Given the description of an element on the screen output the (x, y) to click on. 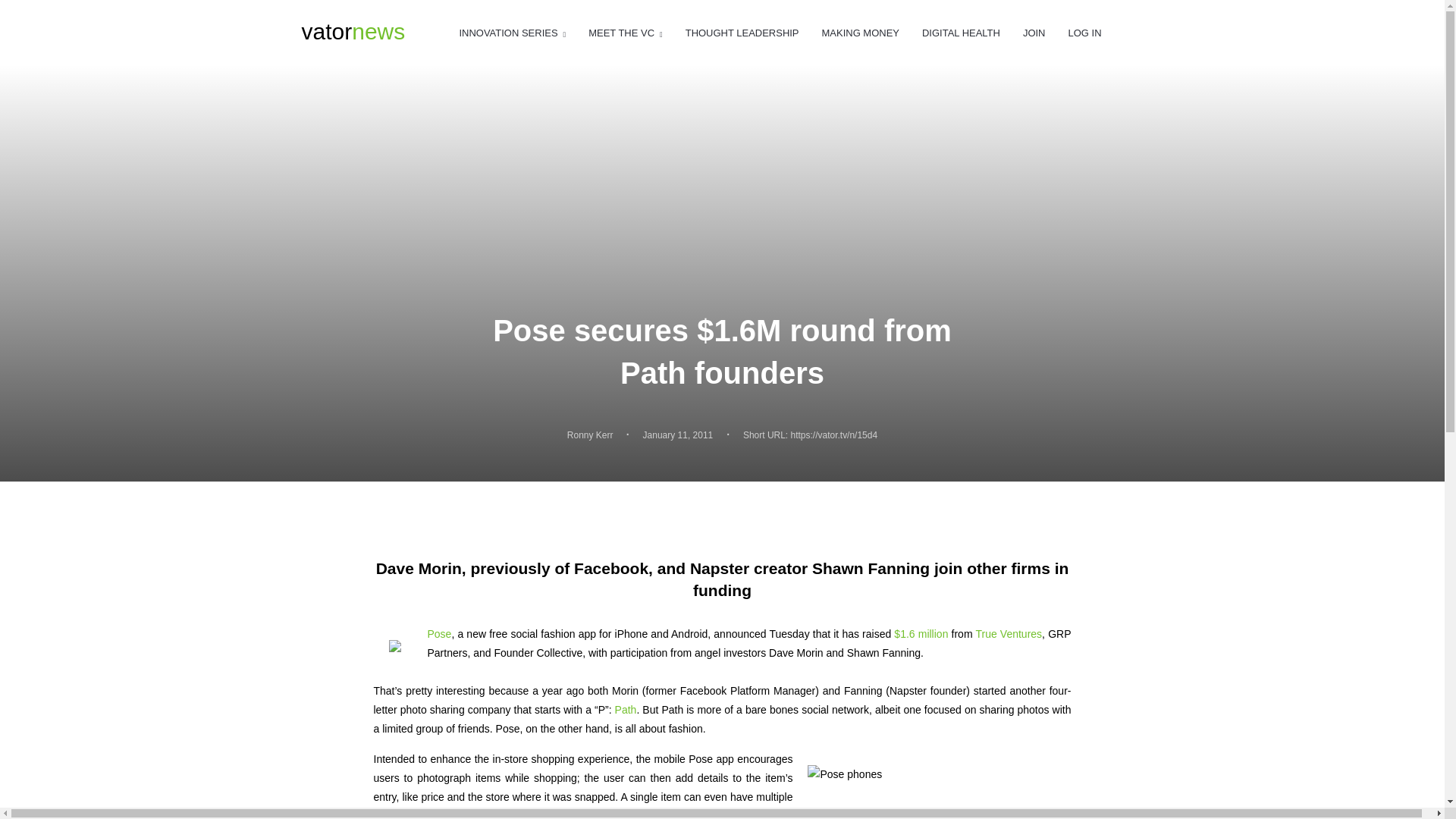
Path (625, 709)
Pose phones (931, 784)
LOG IN (1083, 33)
DIGITAL HEALTH (960, 33)
Pose (399, 647)
MAKING MONEY (860, 33)
True Ventures (1008, 633)
MEET THE VC (625, 33)
Pose (439, 633)
THOUGHT LEADERSHIP (742, 33)
